Given the description of an element on the screen output the (x, y) to click on. 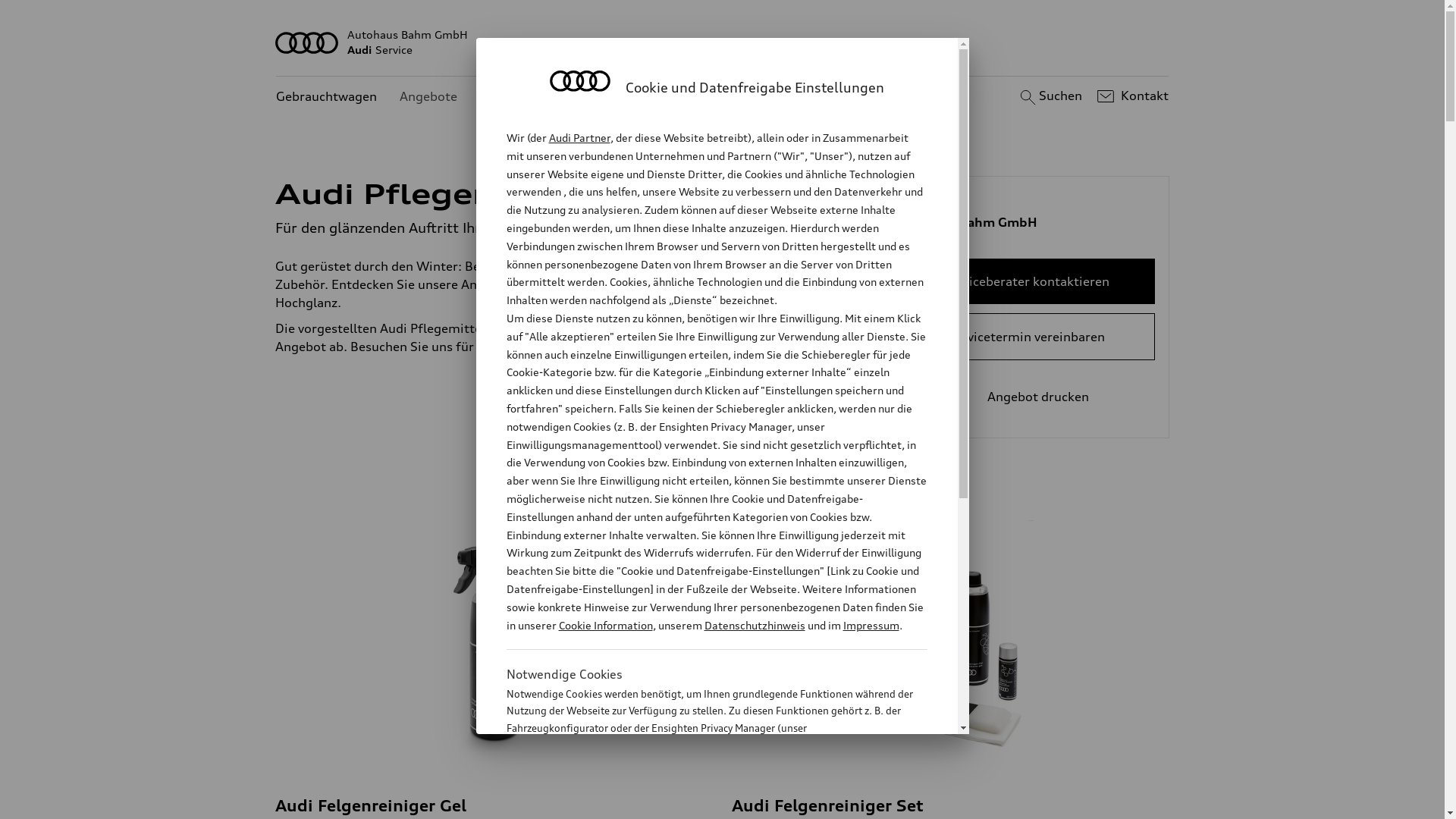
Gebrauchtwagen Element type: text (326, 96)
Kontakt Element type: text (1130, 96)
Impressum Element type: text (871, 624)
Kundenservice Element type: text (523, 96)
Datenschutzhinweis Element type: text (753, 624)
Servicetermin vereinbaren Element type: text (1025, 336)
Cookie Information Element type: text (700, 802)
Autohaus Bahm GmbH
AudiService Element type: text (722, 42)
Audi Partner Element type: text (579, 137)
Angebot drucken Element type: text (1026, 396)
Cookie Information Element type: text (605, 624)
Suchen Element type: text (1049, 96)
Angebote Element type: text (428, 96)
Serviceberater kontaktieren Element type: text (1025, 281)
